Given the description of an element on the screen output the (x, y) to click on. 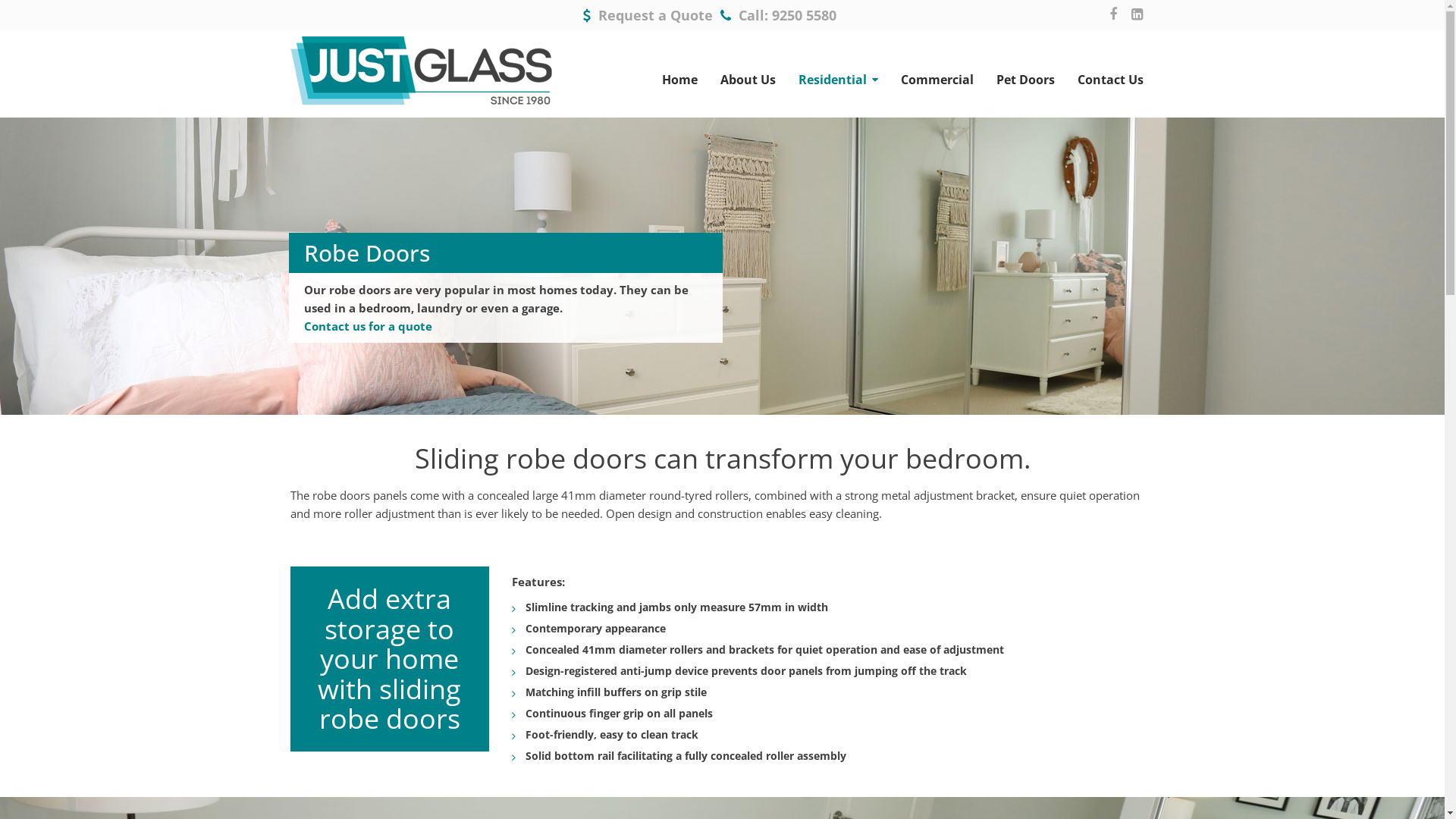
Request a Quote Element type: text (654, 15)
Facebook Element type: hover (1112, 14)
Contact Us Element type: text (1110, 80)
Home Element type: text (679, 80)
Call: 9250 5580 Element type: text (787, 15)
Commercial Element type: text (936, 80)
Contact us for a quote Element type: text (368, 325)
Residential Element type: text (838, 80)
Pet Doors Element type: text (1024, 80)
About Us Element type: text (747, 80)
LinkedIn Element type: hover (1136, 14)
